Given the description of an element on the screen output the (x, y) to click on. 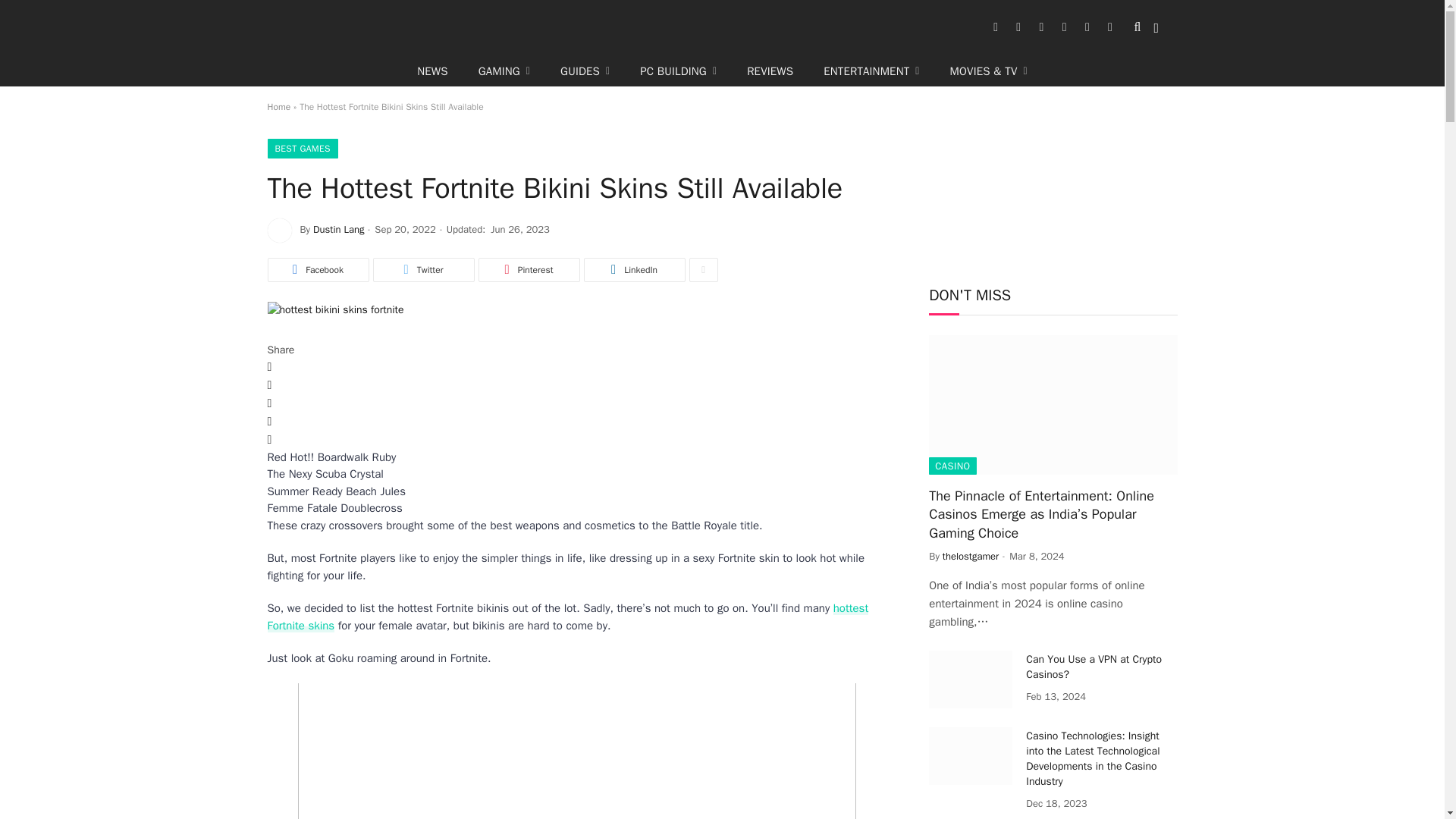
The Lost Gamer (625, 27)
Share on LinkedIn (634, 269)
NEWS (432, 70)
GUIDES (584, 70)
GAMING (503, 70)
Share on Facebook (317, 269)
Posts by Dustin Lang (339, 228)
Share on Pinterest (528, 269)
